Given the description of an element on the screen output the (x, y) to click on. 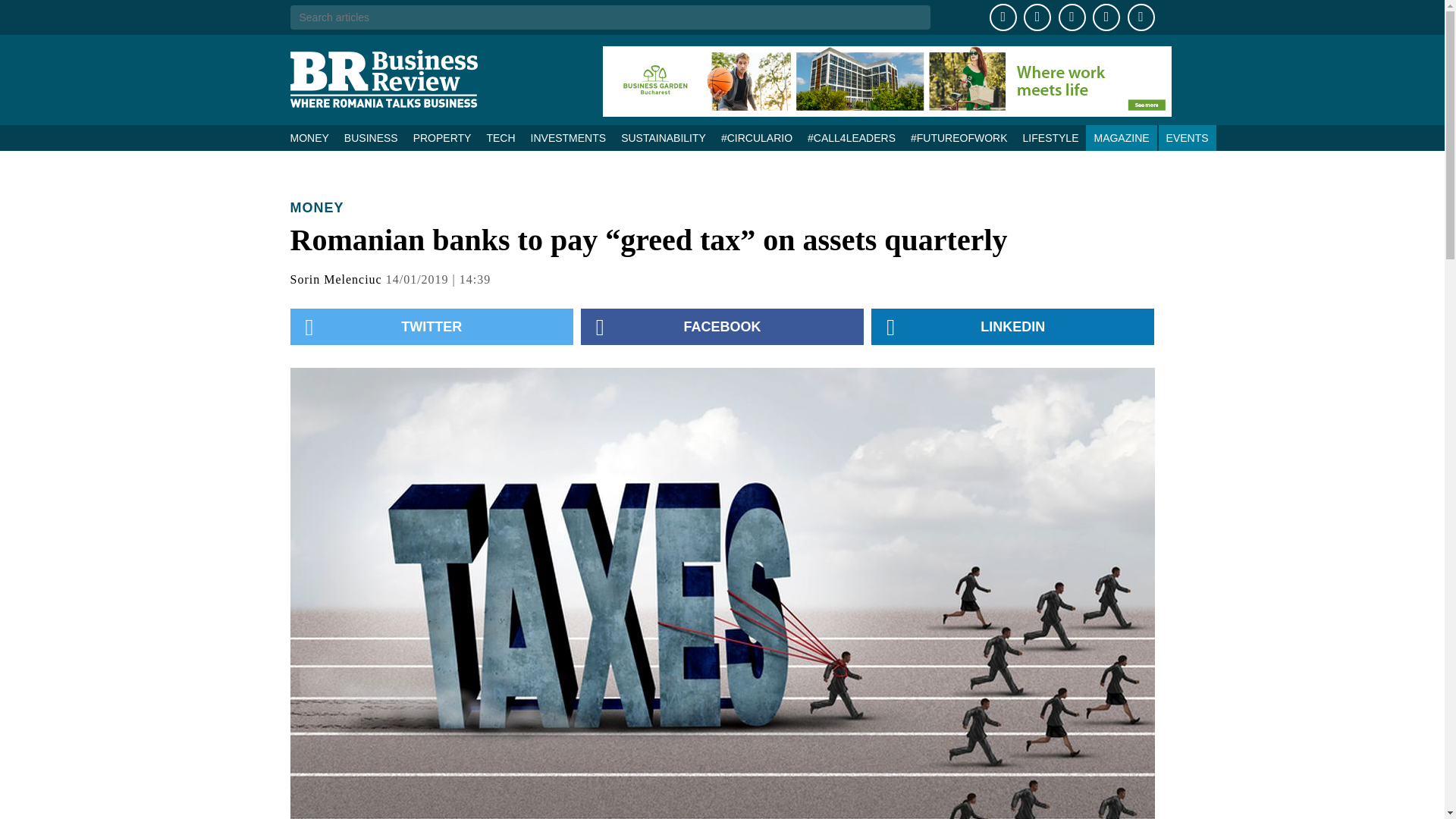
TWITTER (430, 326)
SUSTAINABILITY (662, 137)
MONEY (312, 137)
EVENTS (1186, 137)
INVESTMENTS (568, 137)
LIFESTYLE (1050, 137)
BUSINESS (371, 137)
Sorin Melenciuc (335, 278)
FACEBOOK (721, 326)
LINKEDIN (1012, 326)
TECH (500, 137)
MAGAZINE (1121, 137)
MONEY (316, 207)
PROPERTY (442, 137)
